Given the description of an element on the screen output the (x, y) to click on. 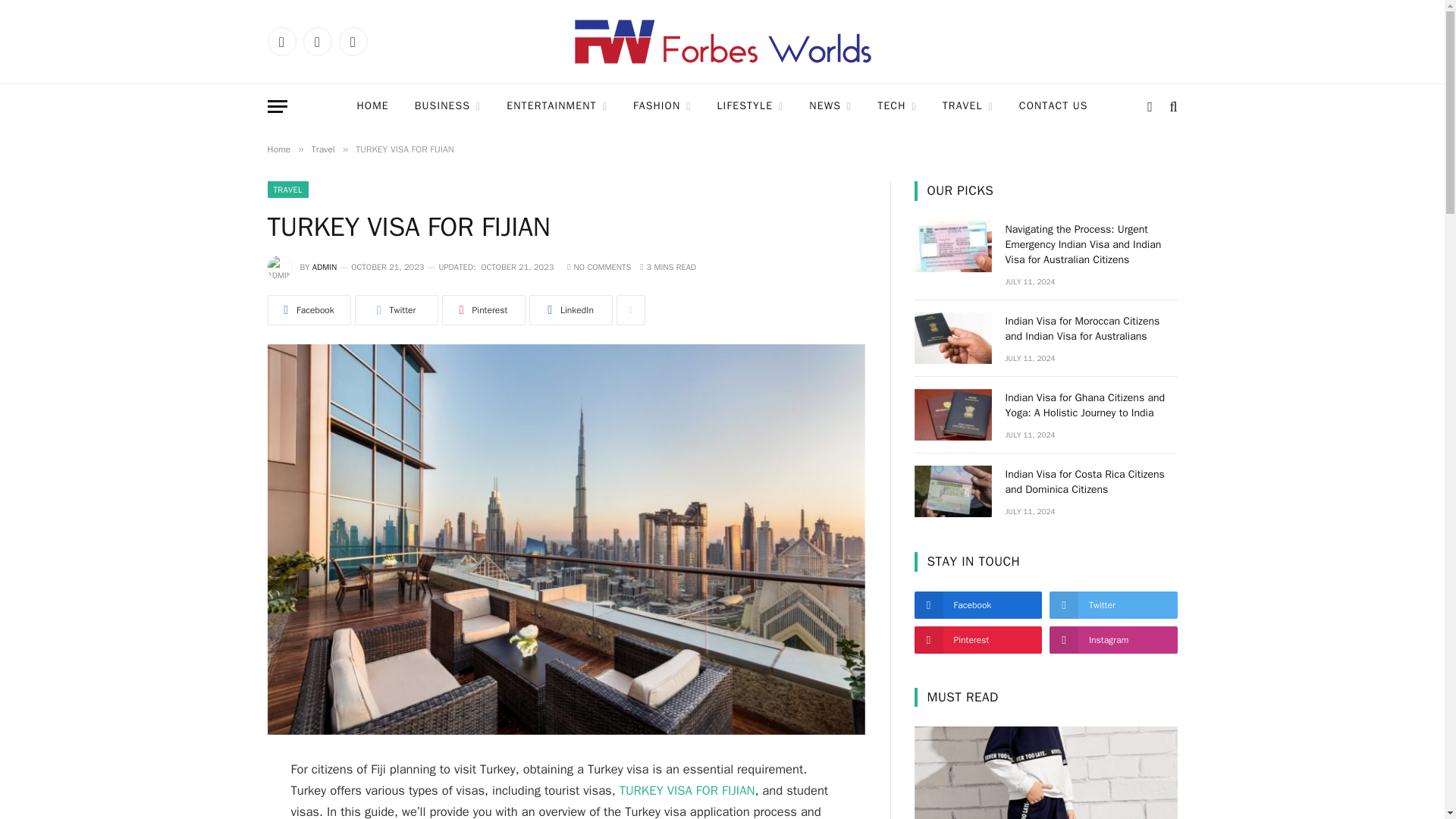
Facebook (280, 41)
Twitter (316, 41)
Forbes Worlds (721, 41)
Instagram (351, 41)
BUSINESS (448, 106)
HOME (372, 106)
ENTERTAINMENT (556, 106)
FASHION (662, 106)
